Given the description of an element on the screen output the (x, y) to click on. 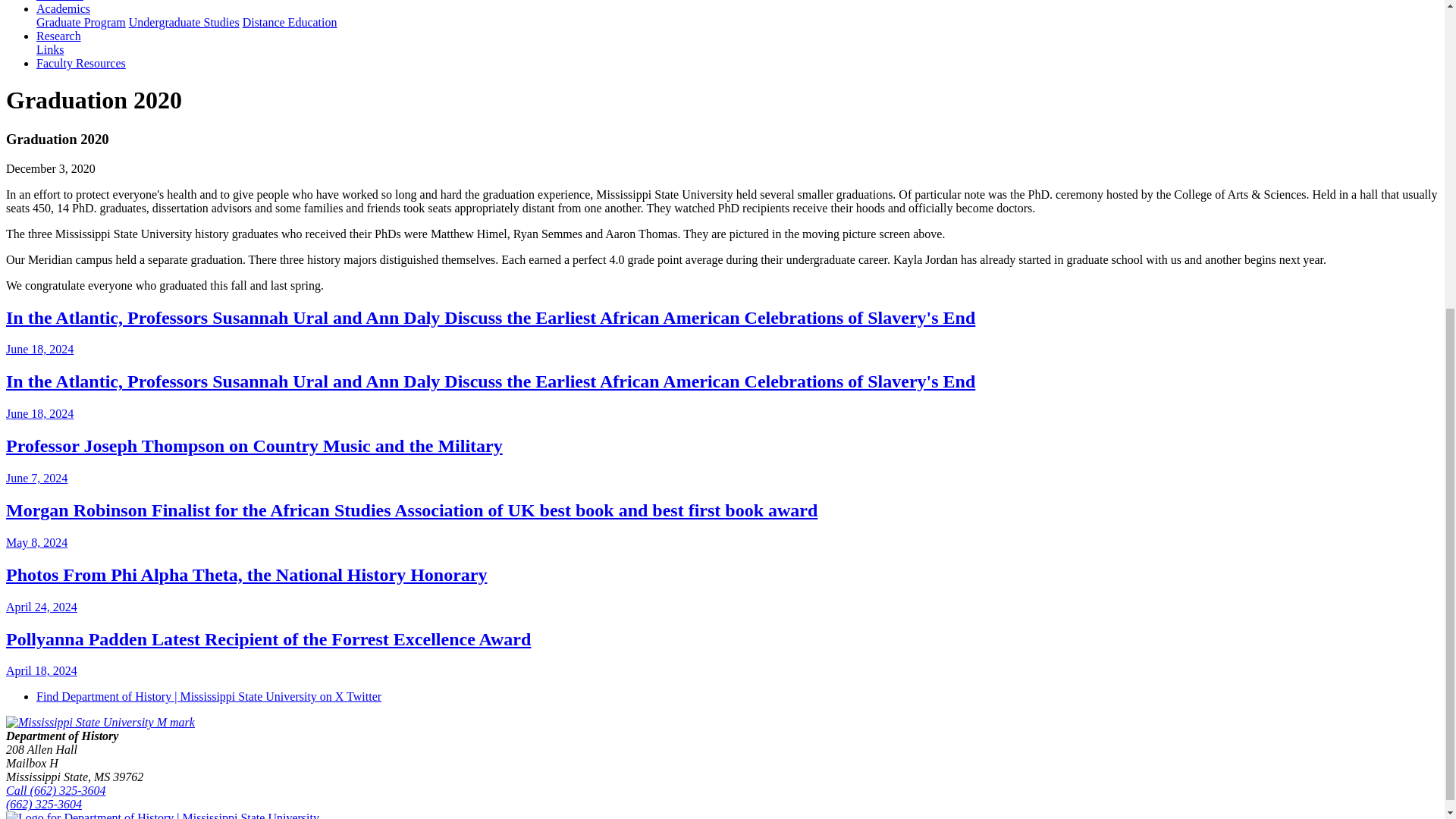
Mississippi State University (100, 722)
About Us (59, 0)
